Given the description of an element on the screen output the (x, y) to click on. 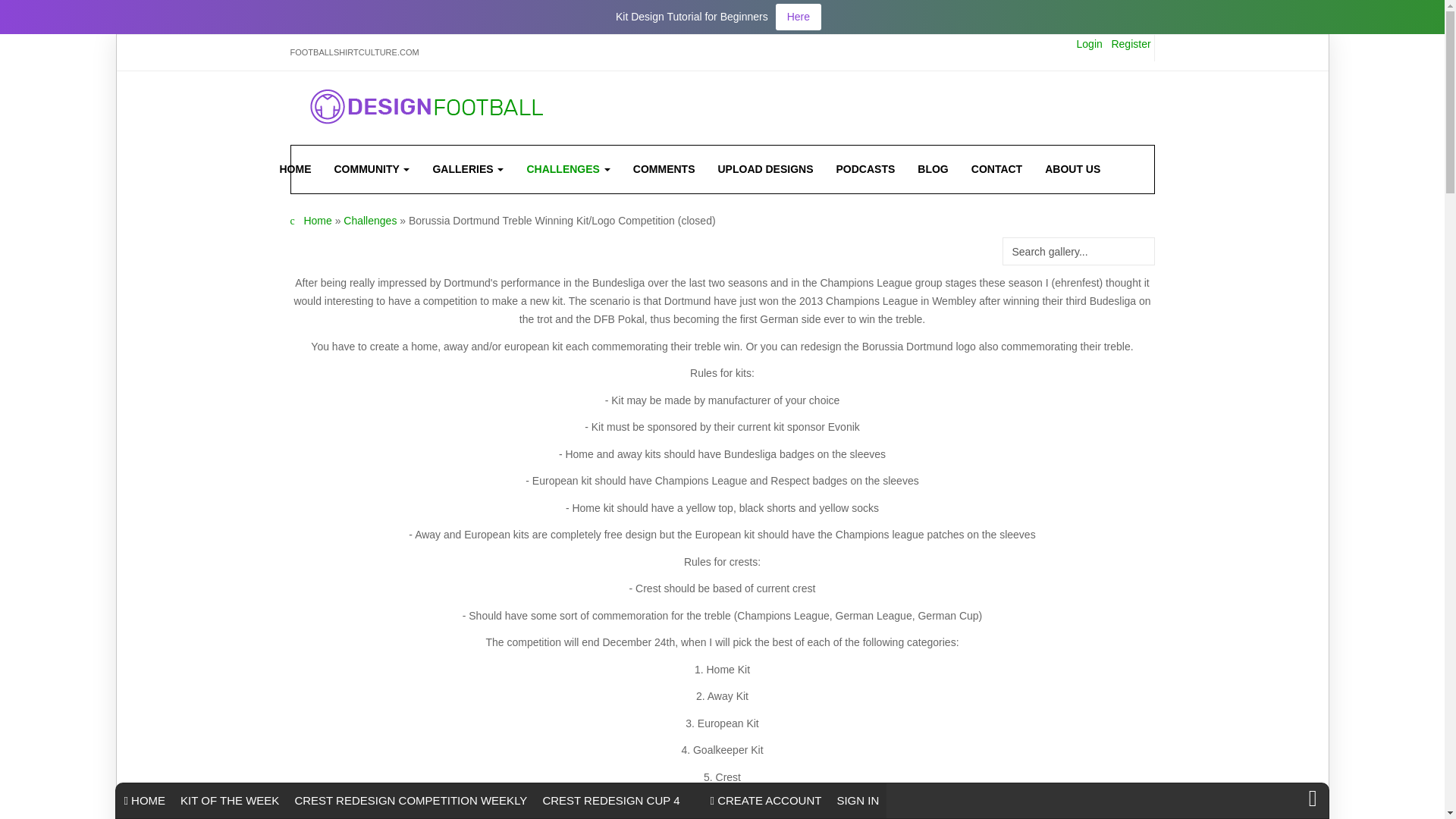
UPLOAD DESIGNS (765, 168)
Design Football (426, 105)
Home (316, 220)
Search gallery... (1078, 251)
CONTACT (996, 168)
Register (1130, 43)
COMMUNITY (372, 168)
Search gallery... (1078, 251)
Here (798, 17)
ABOUT US (1066, 168)
